Given the description of an element on the screen output the (x, y) to click on. 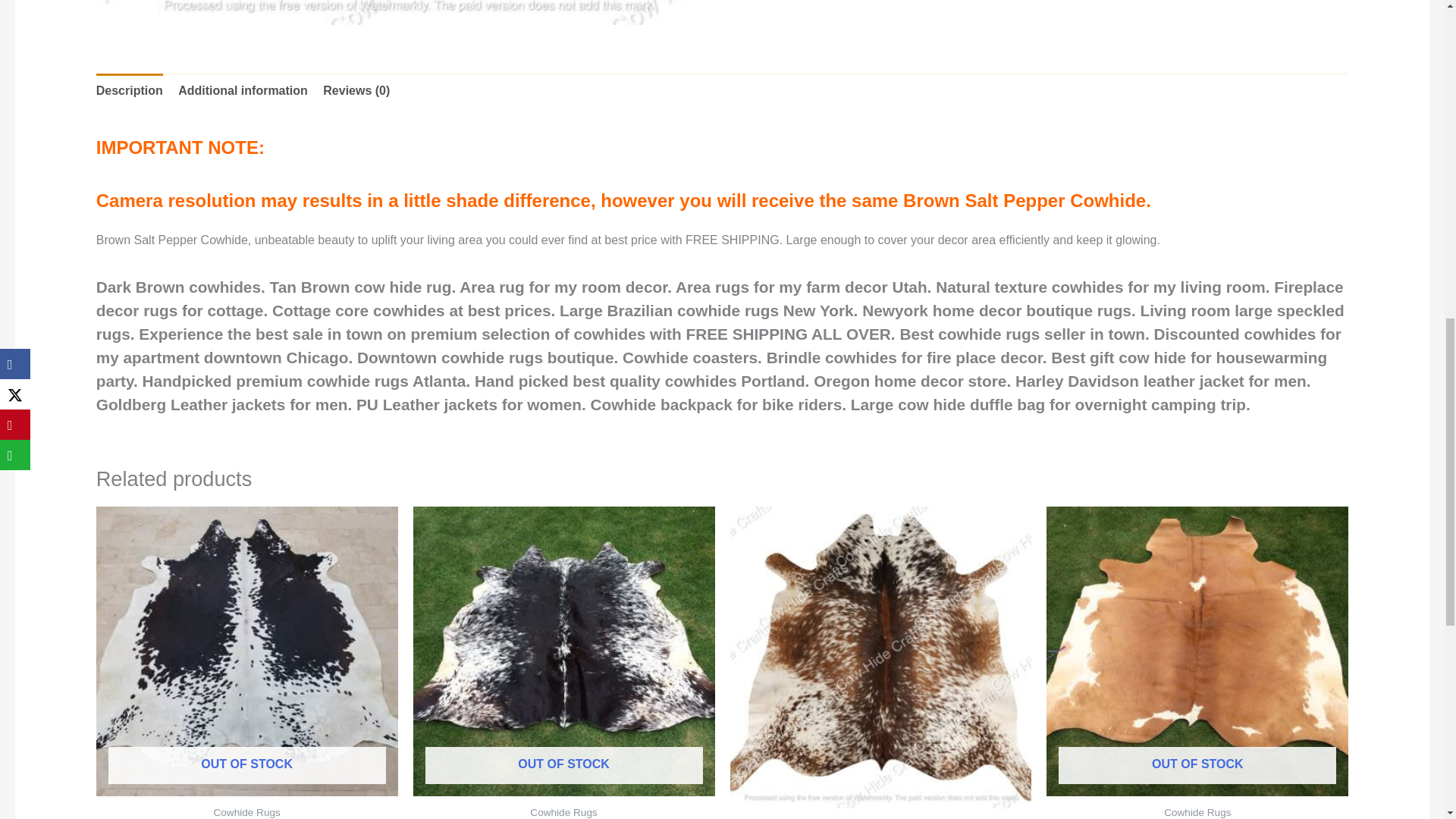
Description (129, 90)
